Given the description of an element on the screen output the (x, y) to click on. 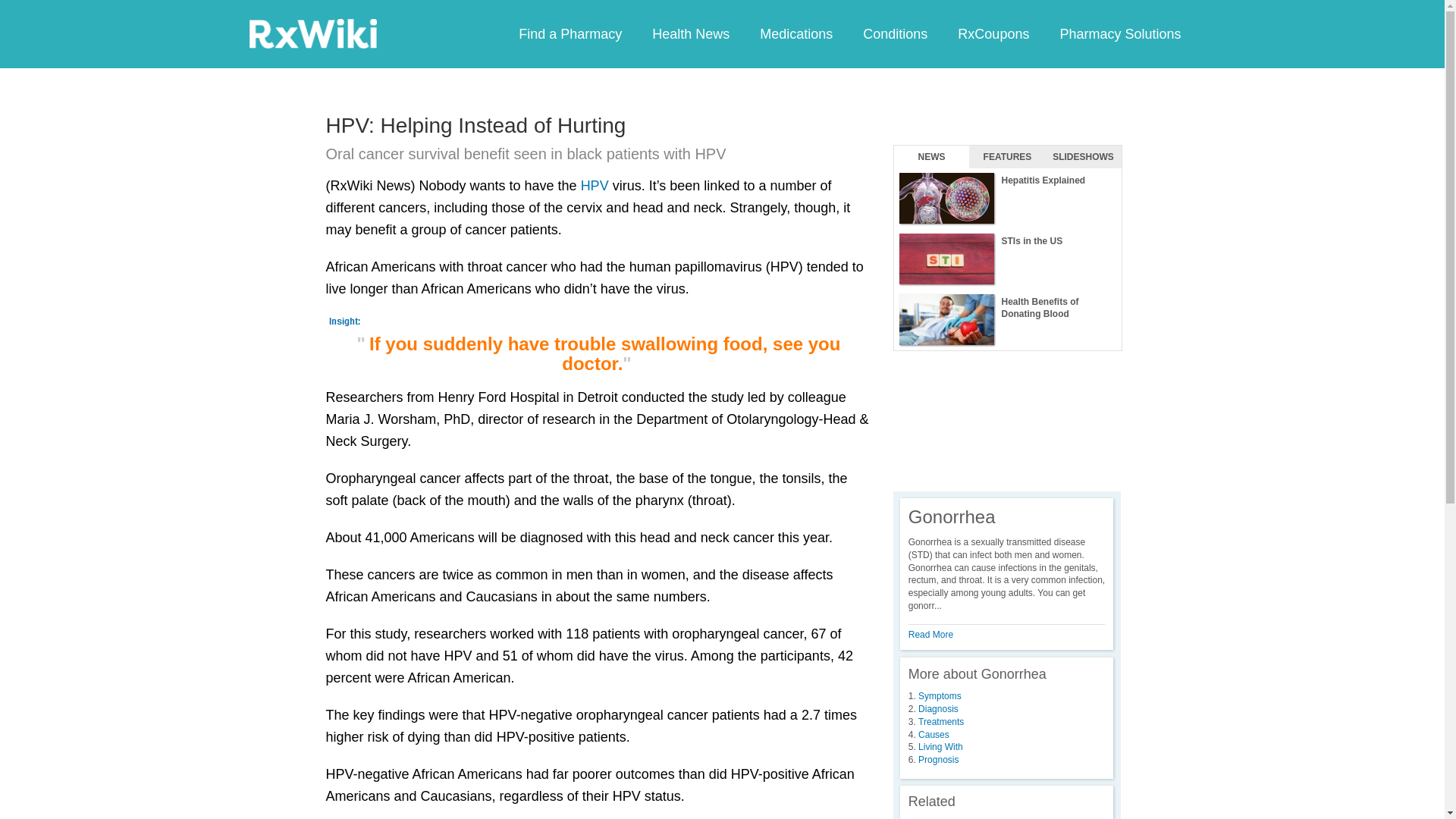
Hepatitis Explained (1007, 198)
FEATURES (1007, 156)
Conditions (894, 33)
Health News (690, 33)
SLIDESHOWS (1083, 156)
HPV (594, 185)
RxWiki (312, 32)
Health Benefits of Donating Blood (1007, 319)
Find a Pharmacy (570, 33)
RxCoupons (992, 33)
Pharmacy Solutions (1119, 33)
STIs in the US (1007, 259)
NEWS (931, 156)
Medications (795, 33)
